Given the description of an element on the screen output the (x, y) to click on. 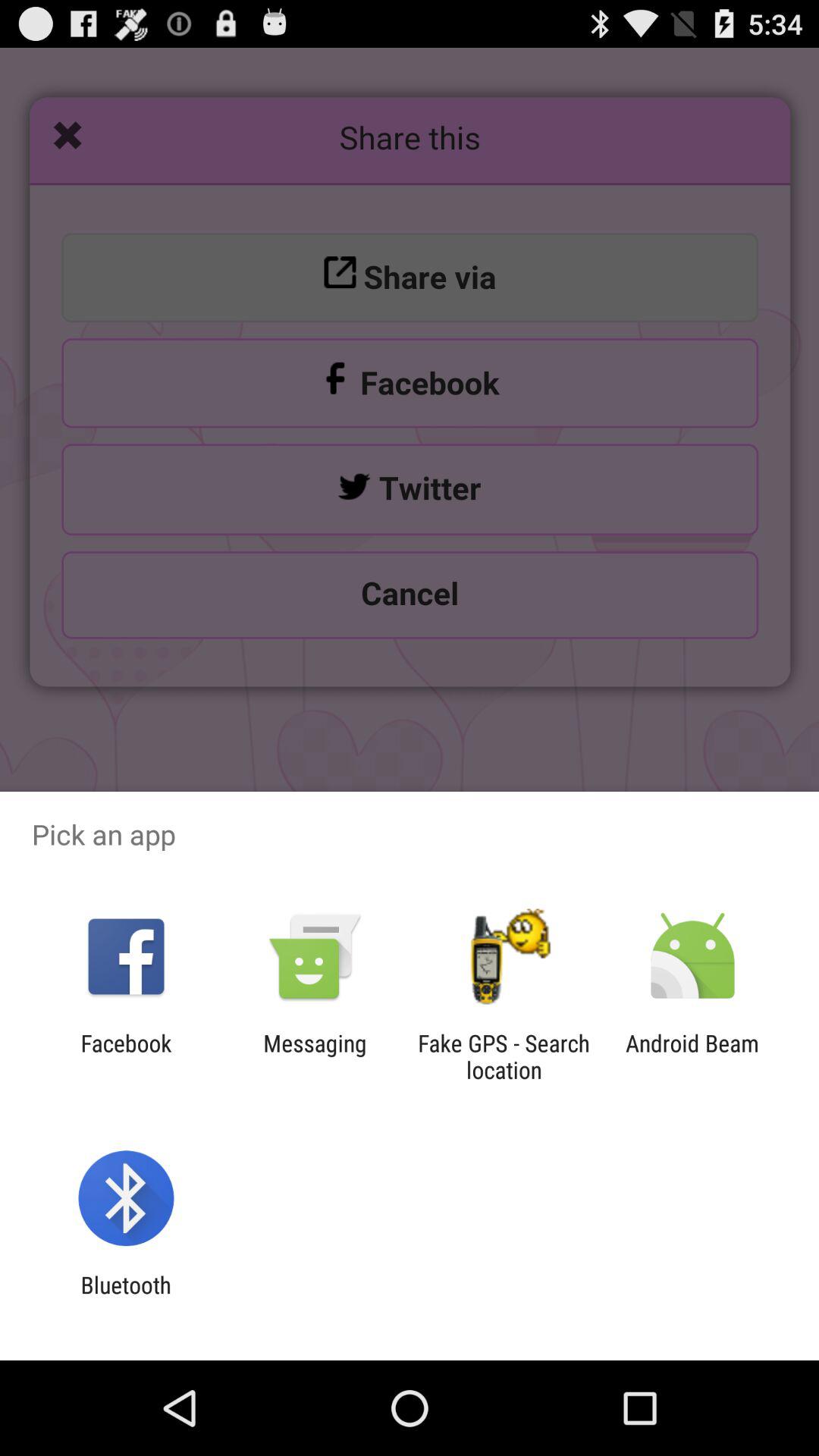
scroll to bluetooth item (125, 1298)
